Given the description of an element on the screen output the (x, y) to click on. 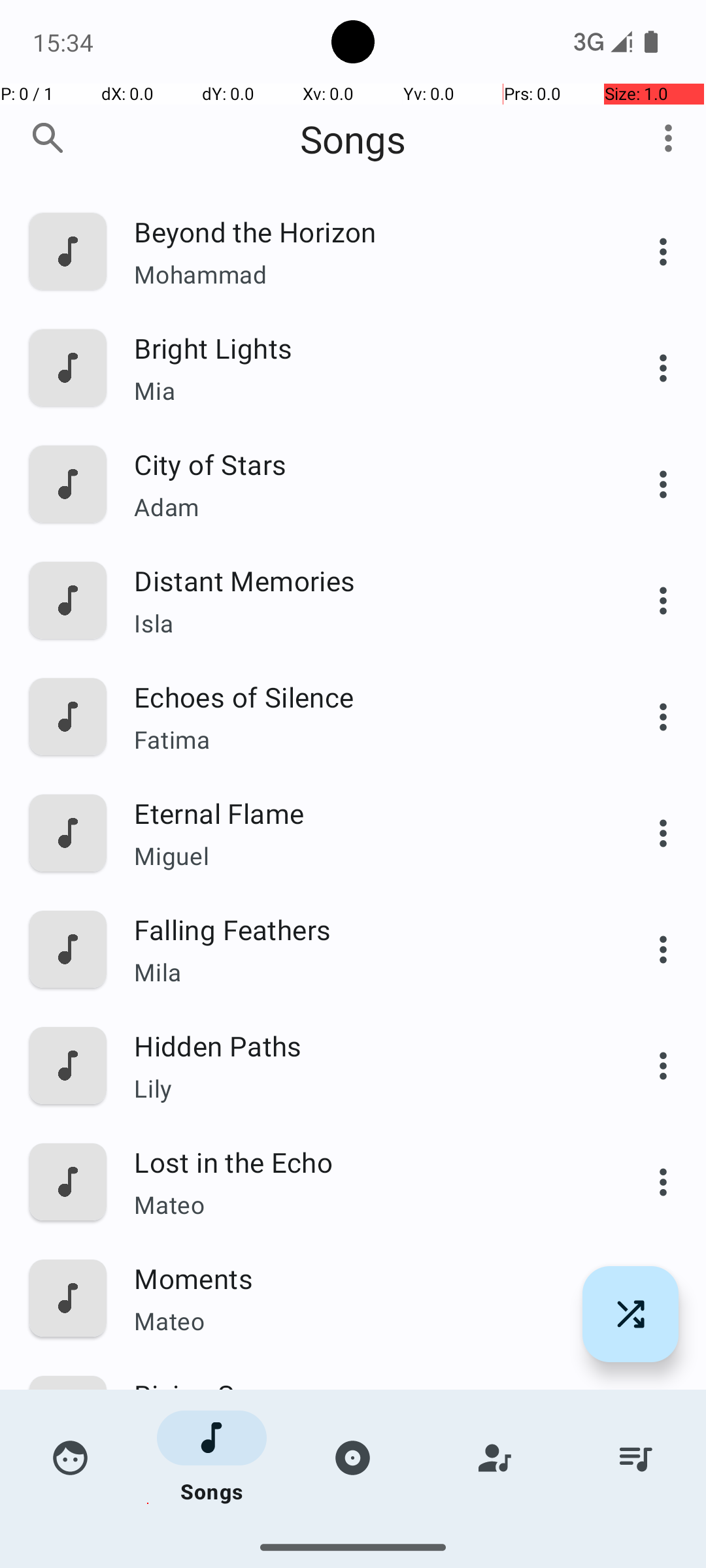
Beyond the Horizon Element type: android.widget.TextView (363, 231)
Mohammad Element type: android.widget.TextView (363, 273)
Bright Lights Element type: android.widget.TextView (363, 347)
Mia Element type: android.widget.TextView (363, 390)
City of Stars Element type: android.widget.TextView (363, 463)
Adam Element type: android.widget.TextView (363, 506)
Distant Memories Element type: android.widget.TextView (363, 580)
Isla Element type: android.widget.TextView (363, 622)
Echoes of Silence Element type: android.widget.TextView (363, 696)
Fatima Element type: android.widget.TextView (363, 738)
Eternal Flame Element type: android.widget.TextView (363, 812)
Miguel Element type: android.widget.TextView (363, 855)
Falling Feathers Element type: android.widget.TextView (363, 928)
Mila Element type: android.widget.TextView (363, 971)
Hidden Paths Element type: android.widget.TextView (363, 1045)
Lily Element type: android.widget.TextView (363, 1087)
Lost in the Echo Element type: android.widget.TextView (363, 1161)
Mateo Element type: android.widget.TextView (363, 1204)
Moments Element type: android.widget.TextView (363, 1277)
Rising Sun Element type: android.widget.TextView (363, 1394)
Ella Element type: android.widget.TextView (363, 1436)
Silent Dreams Element type: android.widget.TextView (363, 1510)
Charlotte Element type: android.widget.TextView (363, 1538)
